Given the description of an element on the screen output the (x, y) to click on. 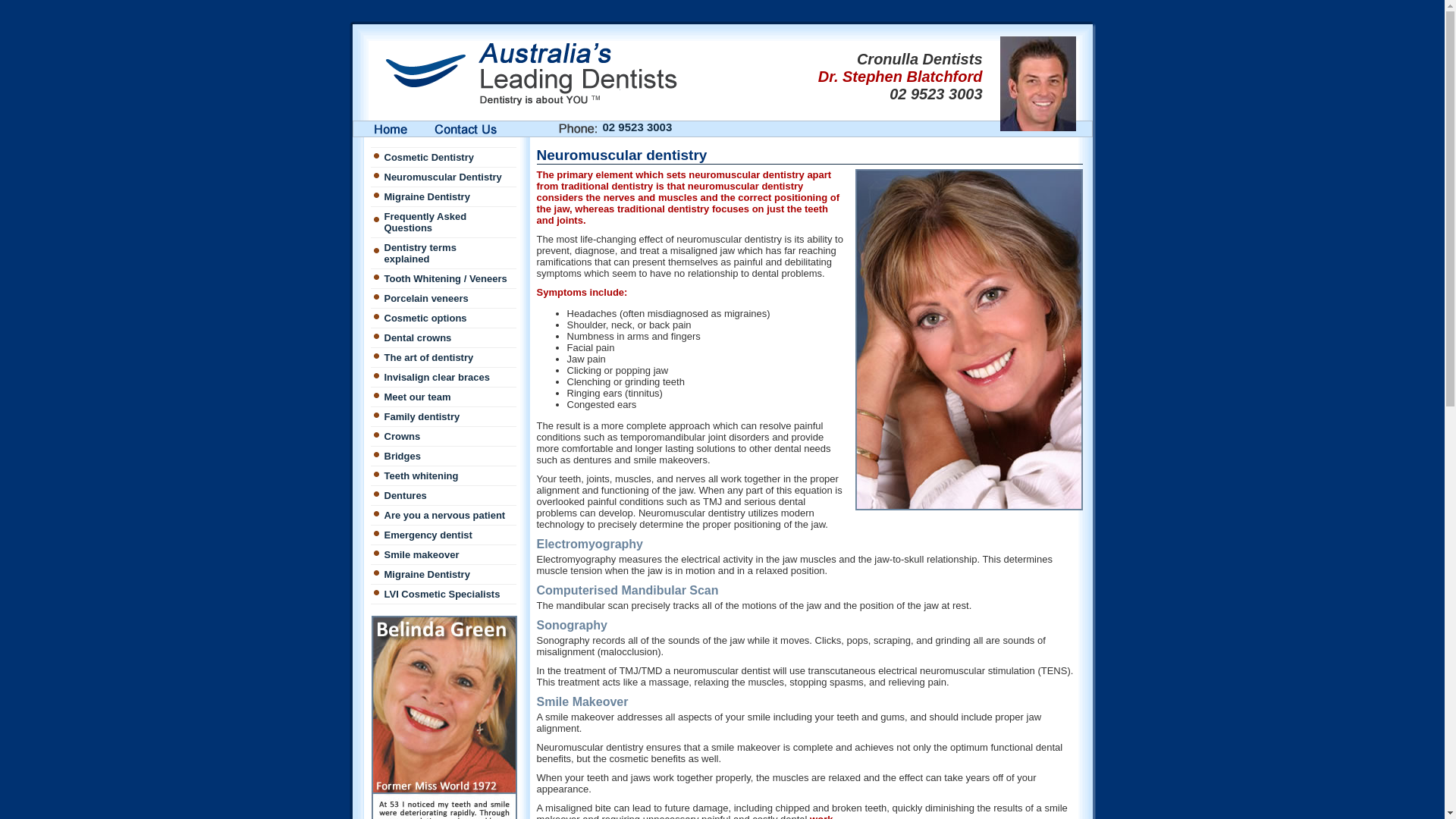
Invisalign clear braces Element type: text (442, 377)
Are you a nervous patient Element type: text (442, 515)
Teeth whitening Element type: text (442, 476)
Family dentistry Element type: text (442, 416)
Neuromuscular Dentistry Element type: text (442, 177)
Meet our team Element type: text (442, 397)
Smile makeover Element type: text (442, 554)
  Element type: text (390, 128)
The art of dentistry Element type: text (442, 357)
Cosmetic Dentistry Element type: text (442, 157)
LVI Cosmetic Specialists Element type: text (442, 594)
Migraine Dentistry Element type: text (442, 574)
  Element type: text (472, 128)
Dentures Element type: text (442, 495)
Porcelain veneers Element type: text (442, 298)
Bridges Element type: text (442, 456)
Dental crowns Element type: text (442, 338)
Crowns Element type: text (442, 436)
Emergency dentist Element type: text (442, 535)
Cosmetic options Element type: text (442, 318)
Frequently Asked Questions Element type: text (442, 222)
Tooth Whitening / Veneers Element type: text (442, 278)
Migraine Dentistry Element type: text (442, 197)
Dentistry terms
explained Element type: text (442, 253)
